Given the description of an element on the screen output the (x, y) to click on. 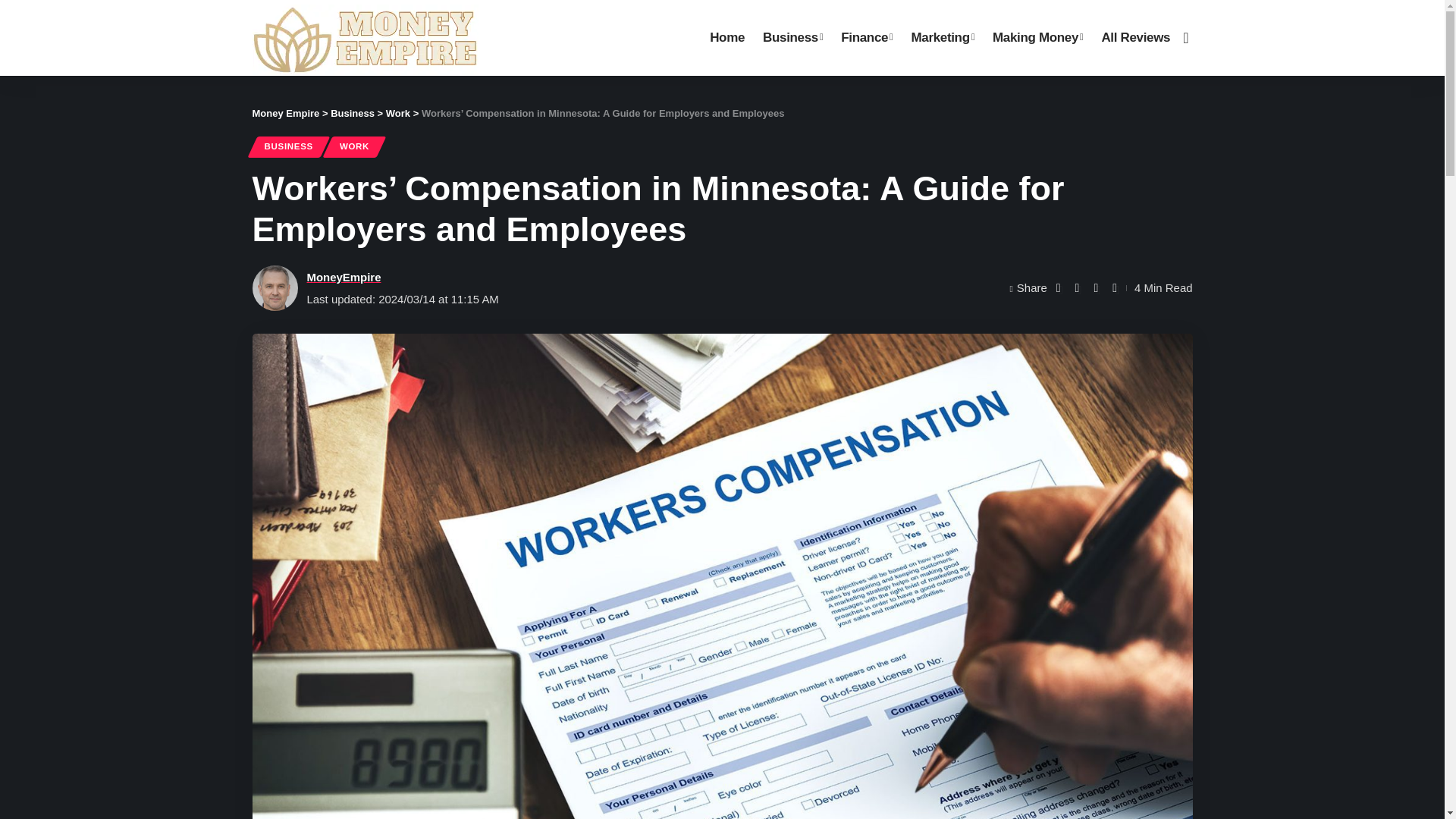
Go to the Work Category archives. (397, 112)
Go to Money Empire. (284, 112)
Money Empire (364, 37)
All Reviews (1135, 38)
Finance (866, 38)
Business (792, 38)
Go to the Business Category archives. (352, 112)
Marketing (942, 38)
Making Money (1038, 38)
